Given the description of an element on the screen output the (x, y) to click on. 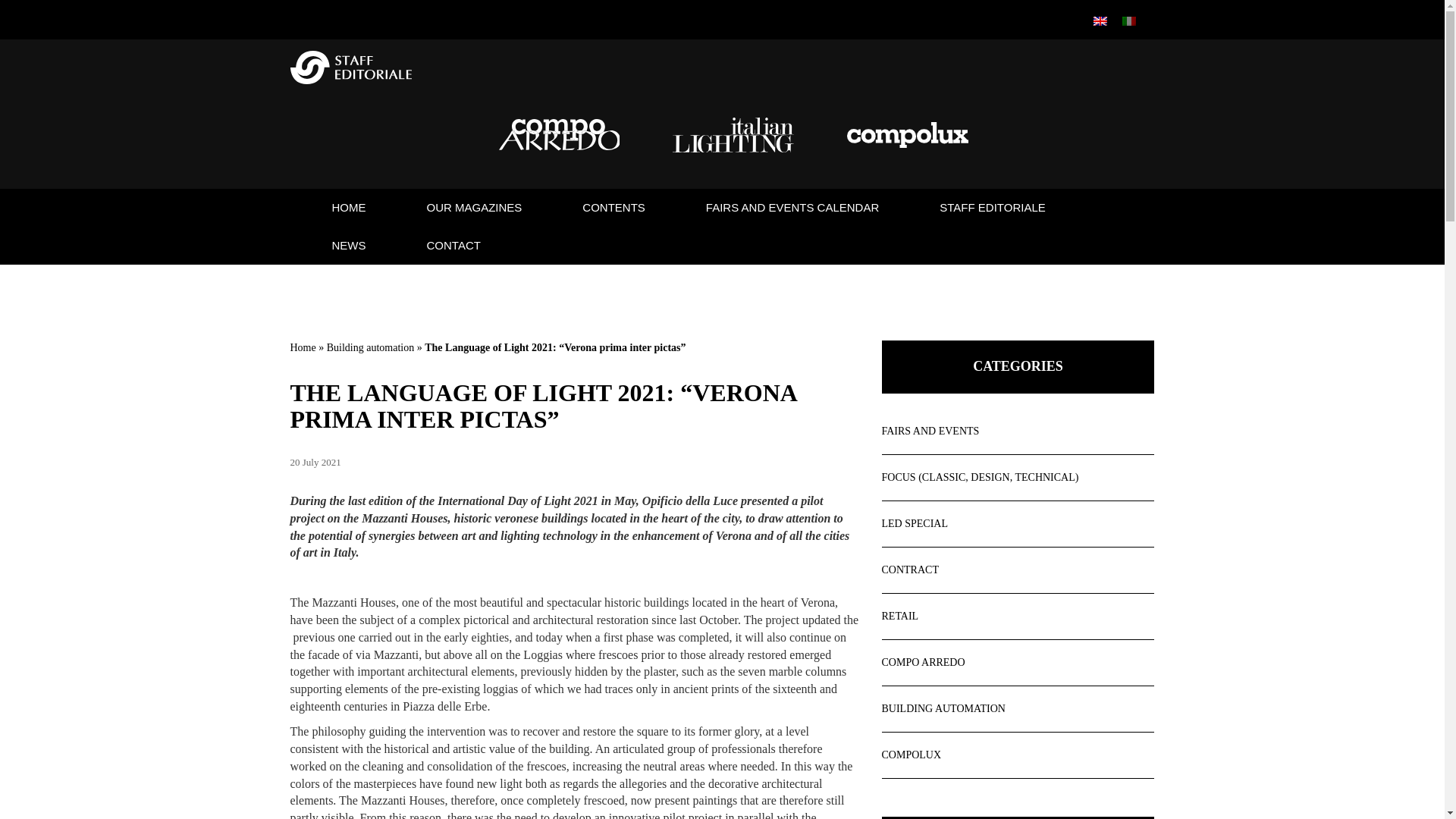
FAIRS AND EVENTS CALENDAR (792, 207)
STAFF EDITORIALE (992, 207)
CONTACT (453, 245)
CONTENTS (613, 207)
Oggetto vettoriale avanzato1 (907, 135)
NEWS (348, 245)
Oggetto vettoriale avanzato (732, 137)
Oggetto vettoriale avanzato1 (907, 137)
OUR MAGAZINES (473, 207)
compo-arredo-3 (559, 137)
HOME (348, 207)
Oggetto vettoriale avanzato (732, 134)
compo-arredo-3 (559, 134)
